Given the description of an element on the screen output the (x, y) to click on. 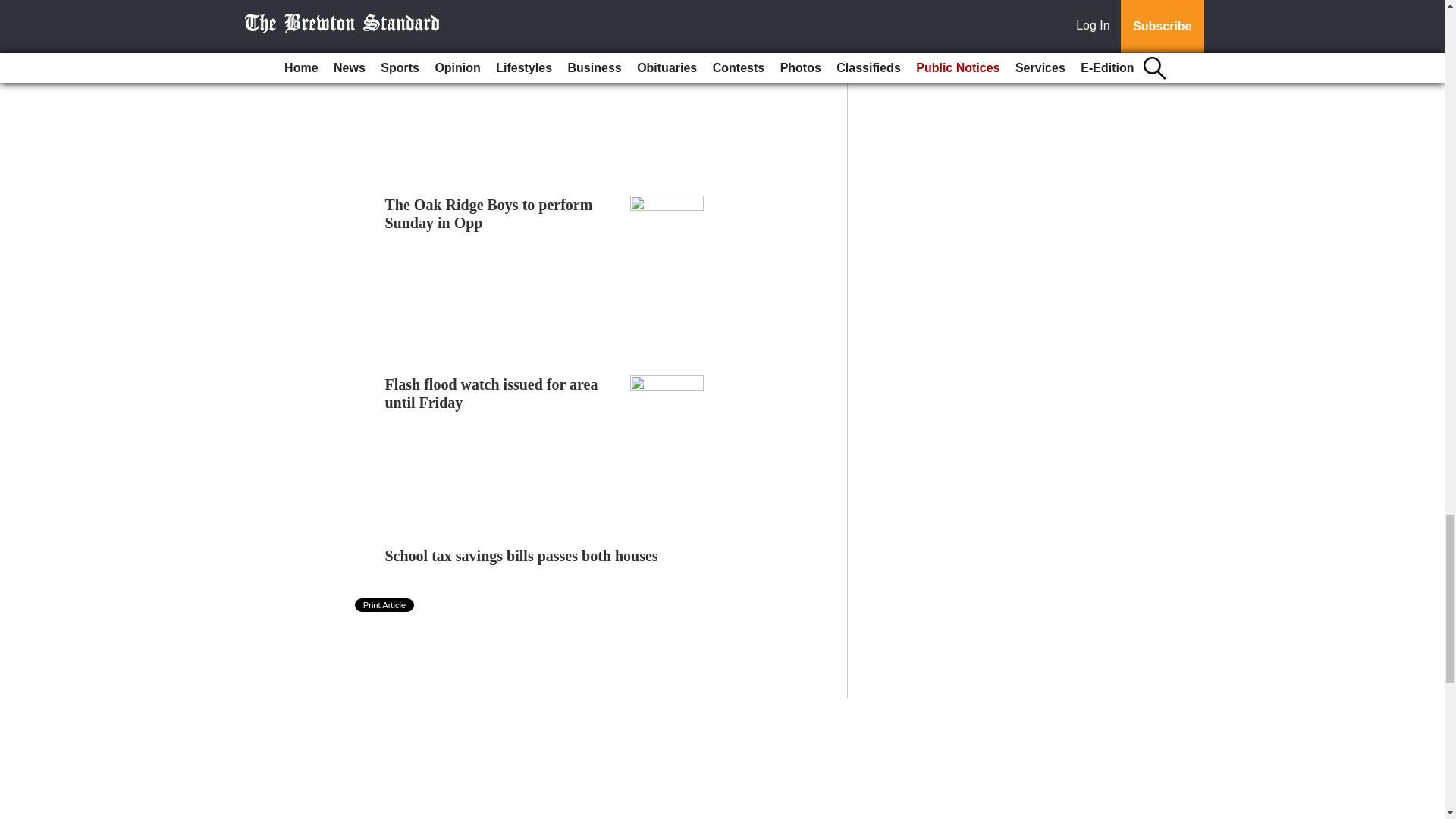
Flash flood watch issued for area until Friday (491, 393)
The Oak Ridge Boys to perform Sunday in Opp (488, 212)
School tax savings bills passes both houses (521, 555)
Most weather impacts expected Wednesday, Thursday (486, 37)
Most weather impacts expected Wednesday, Thursday (486, 37)
School tax savings bills passes both houses (521, 555)
The Oak Ridge Boys to perform Sunday in Opp (488, 212)
Print Article (384, 604)
Flash flood watch issued for area until Friday (491, 393)
